Given the description of an element on the screen output the (x, y) to click on. 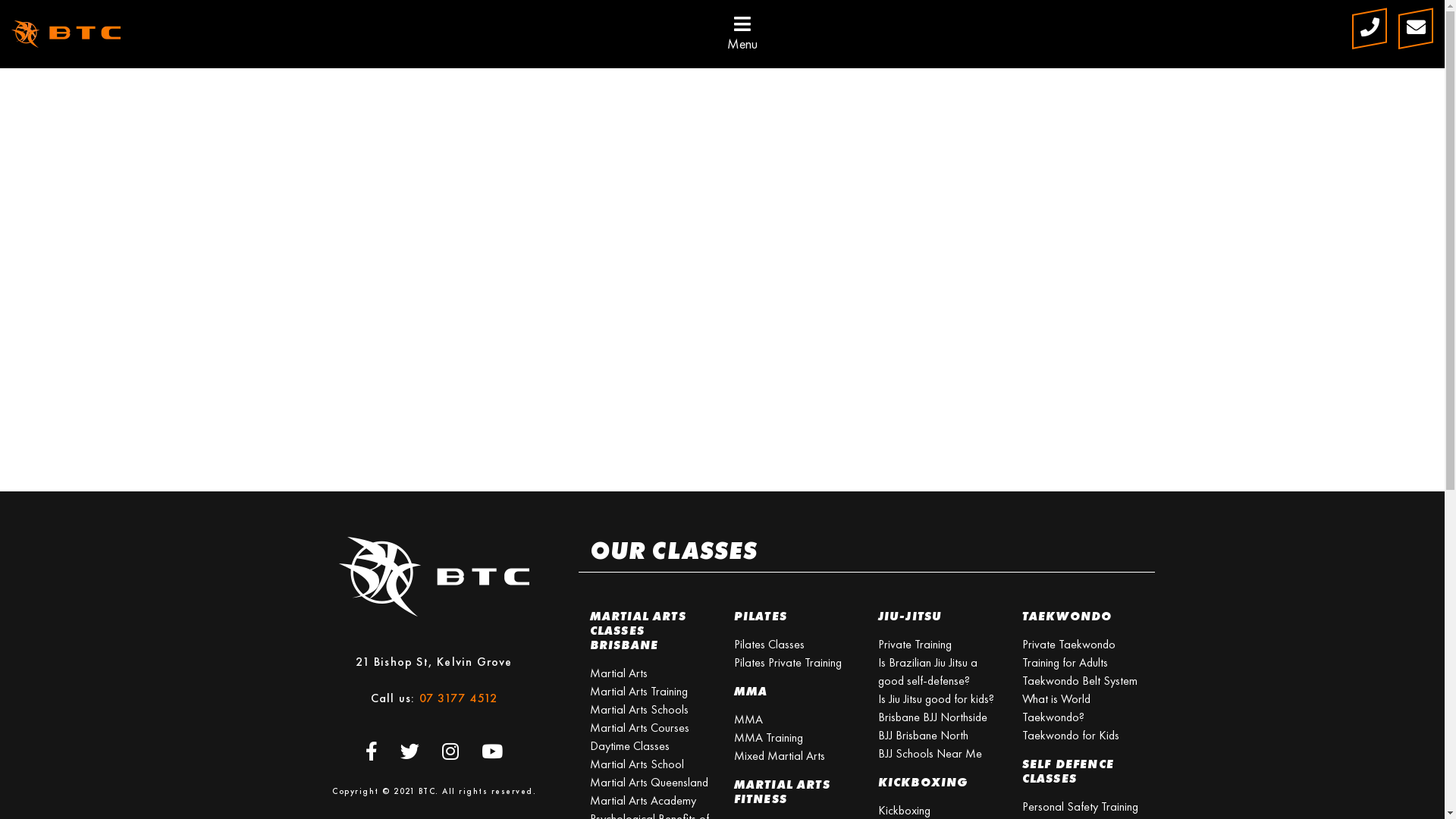
Is Jiu Jitsu good for kids? Element type: text (936, 698)
Is Brazilian Jiu Jitsu a good self-defense? Element type: text (927, 671)
Pilates Private Training Element type: text (787, 662)
Martial Arts Courses Element type: text (639, 727)
Taekwondo for Kids Element type: text (1070, 735)
Private Training Element type: text (914, 644)
BJJ Brisbane North Element type: text (923, 735)
Martial Arts Training Element type: text (638, 691)
Daytime Classes Element type: text (629, 745)
Martial Arts School Element type: text (636, 763)
Private Taekwondo Training for Adults Element type: text (1068, 653)
What is World Taekwondo? Element type: text (1056, 707)
MMA Element type: text (748, 719)
Martial Arts Queensland Element type: text (648, 782)
Martial Arts Element type: text (618, 672)
Taekwondo Belt System Element type: text (1079, 680)
MMA Training Element type: text (768, 737)
Mixed Martial Arts Element type: text (779, 755)
Kickboxing Element type: text (904, 810)
07 3177 4512 Element type: text (458, 698)
BJJ Schools Near Me Element type: text (930, 753)
Martial Arts Academy Element type: text (642, 800)
Menu Element type: text (742, 33)
Brisbane BJJ Northside Element type: text (932, 716)
Personal Safety Training Element type: text (1080, 806)
Pilates Classes Element type: text (769, 644)
Martial Arts Schools Element type: text (638, 709)
